Given the description of an element on the screen output the (x, y) to click on. 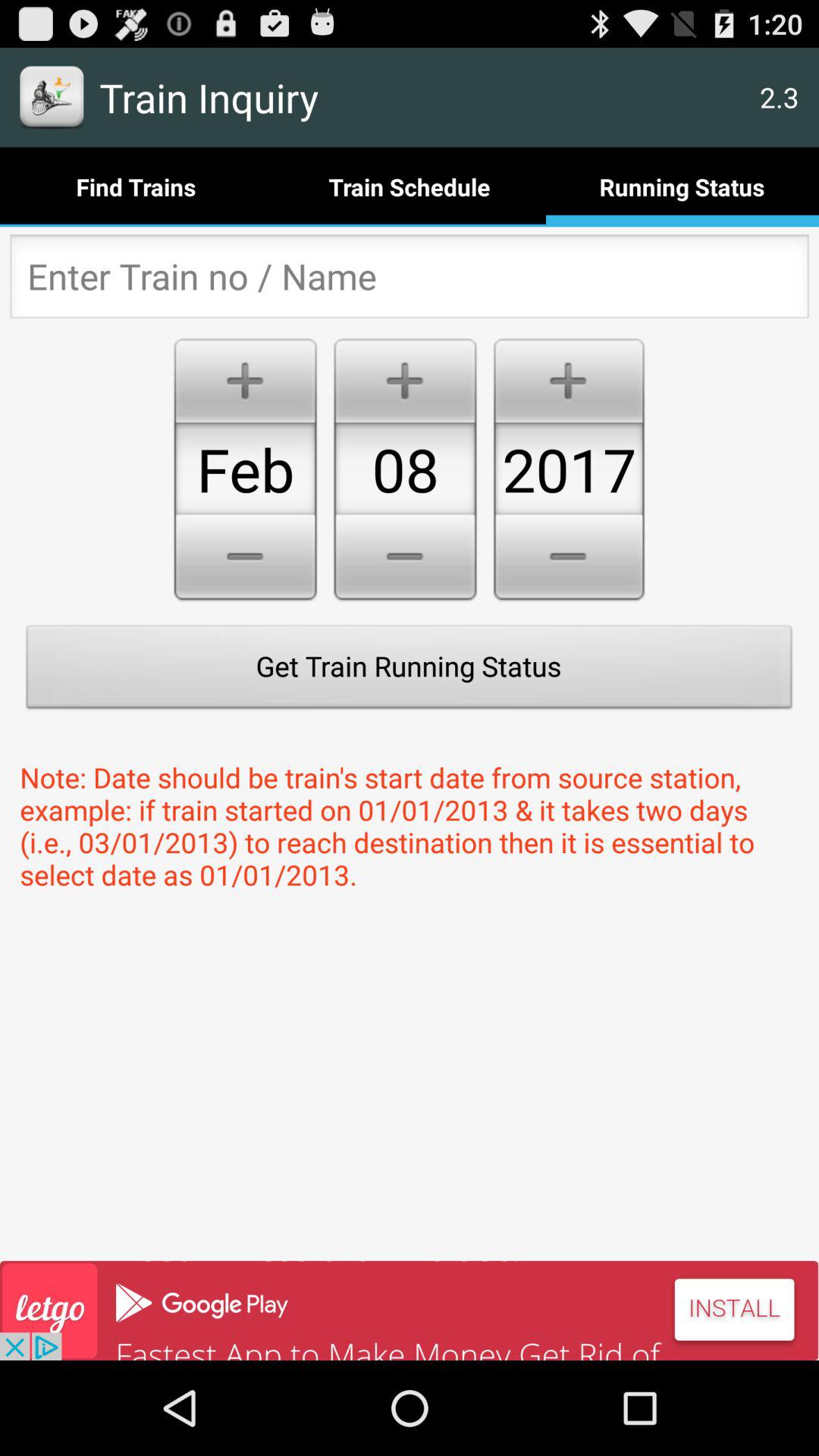
advertisement (409, 1310)
